Given the description of an element on the screen output the (x, y) to click on. 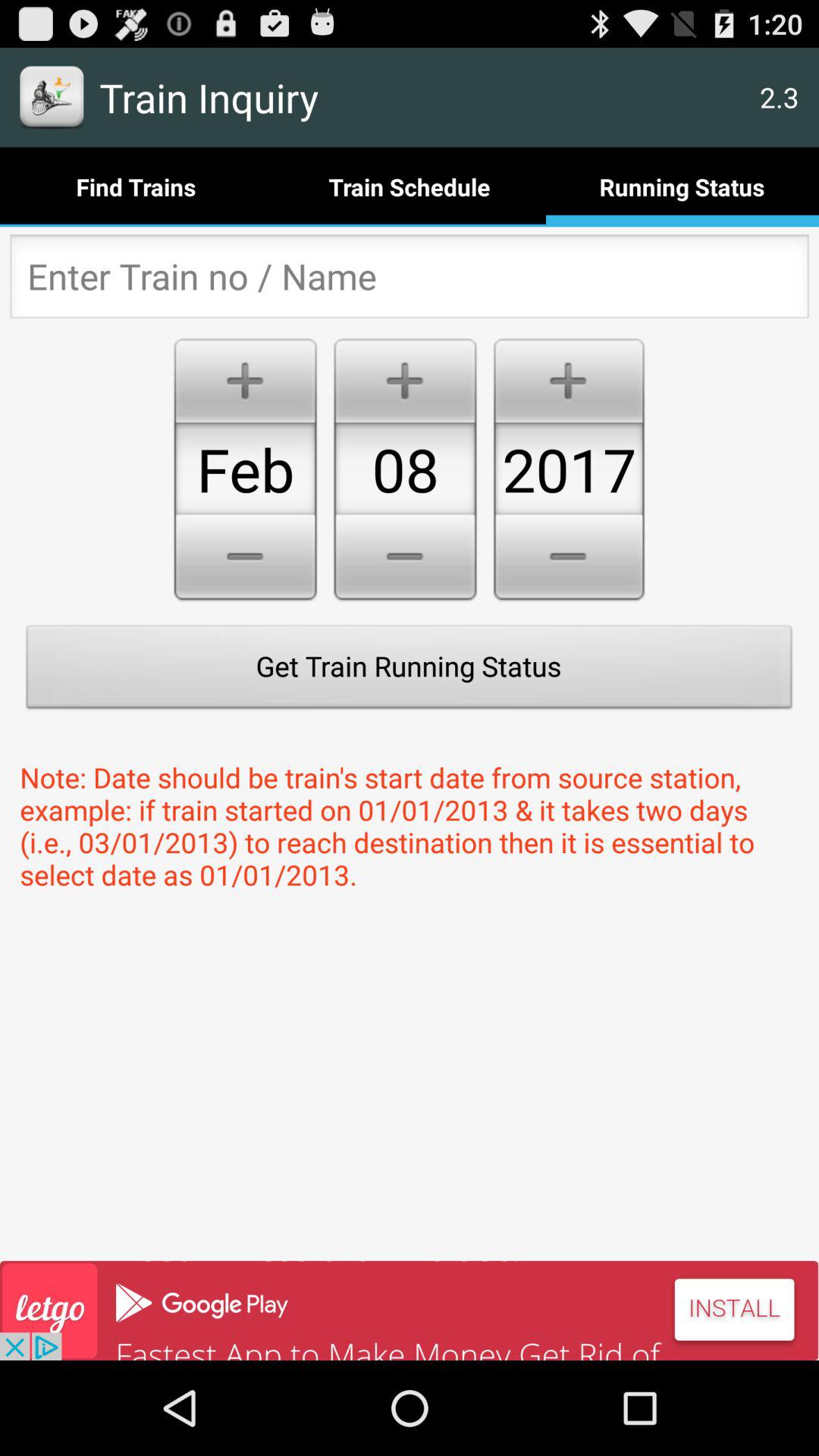
advertisement (409, 1310)
